Given the description of an element on the screen output the (x, y) to click on. 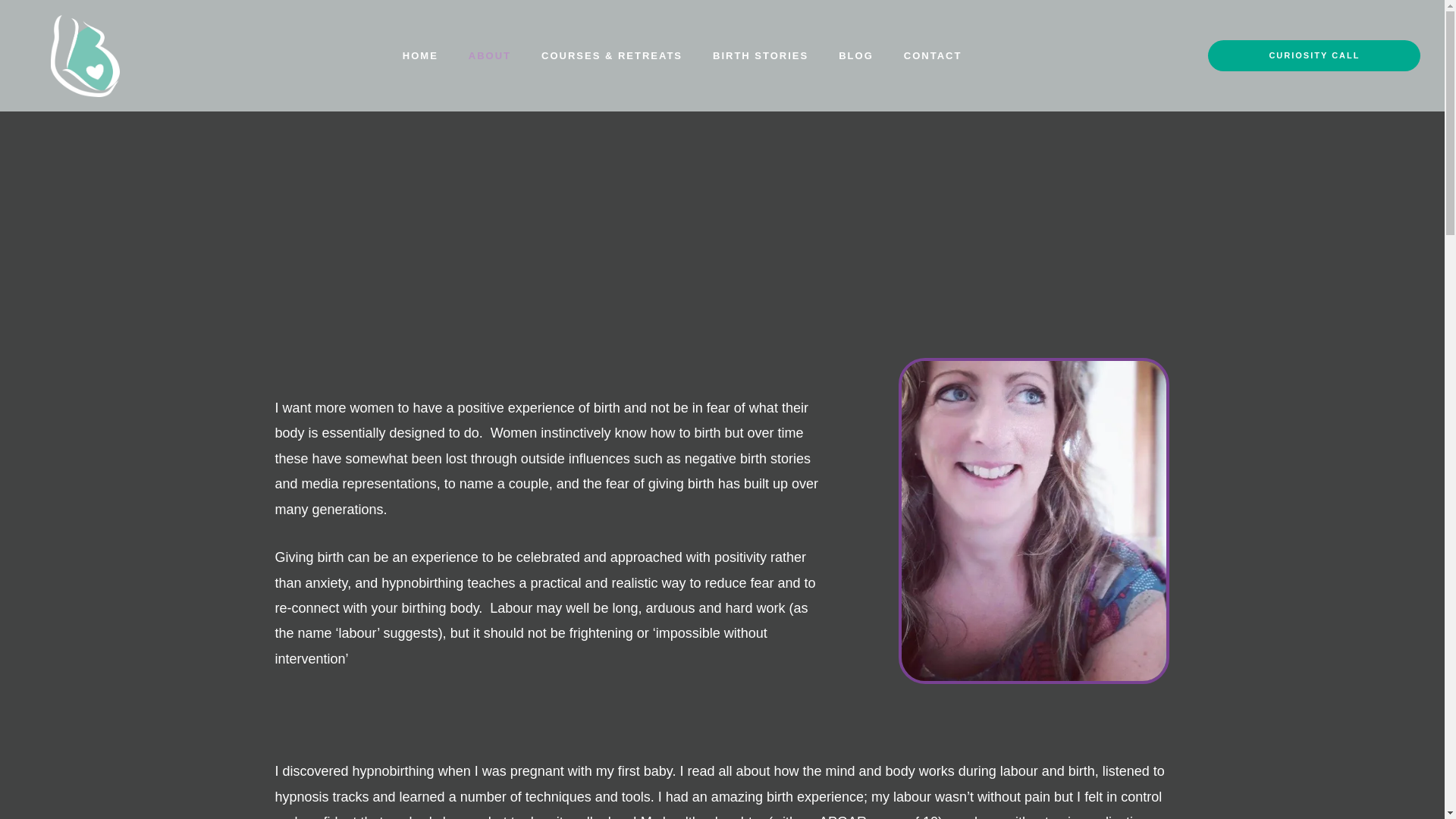
BIRTH STORIES (760, 55)
HOME (419, 55)
BLOG (856, 55)
ABOUT (488, 55)
CONTACT (932, 55)
CURIOSITY CALL (1314, 55)
